Given the description of an element on the screen output the (x, y) to click on. 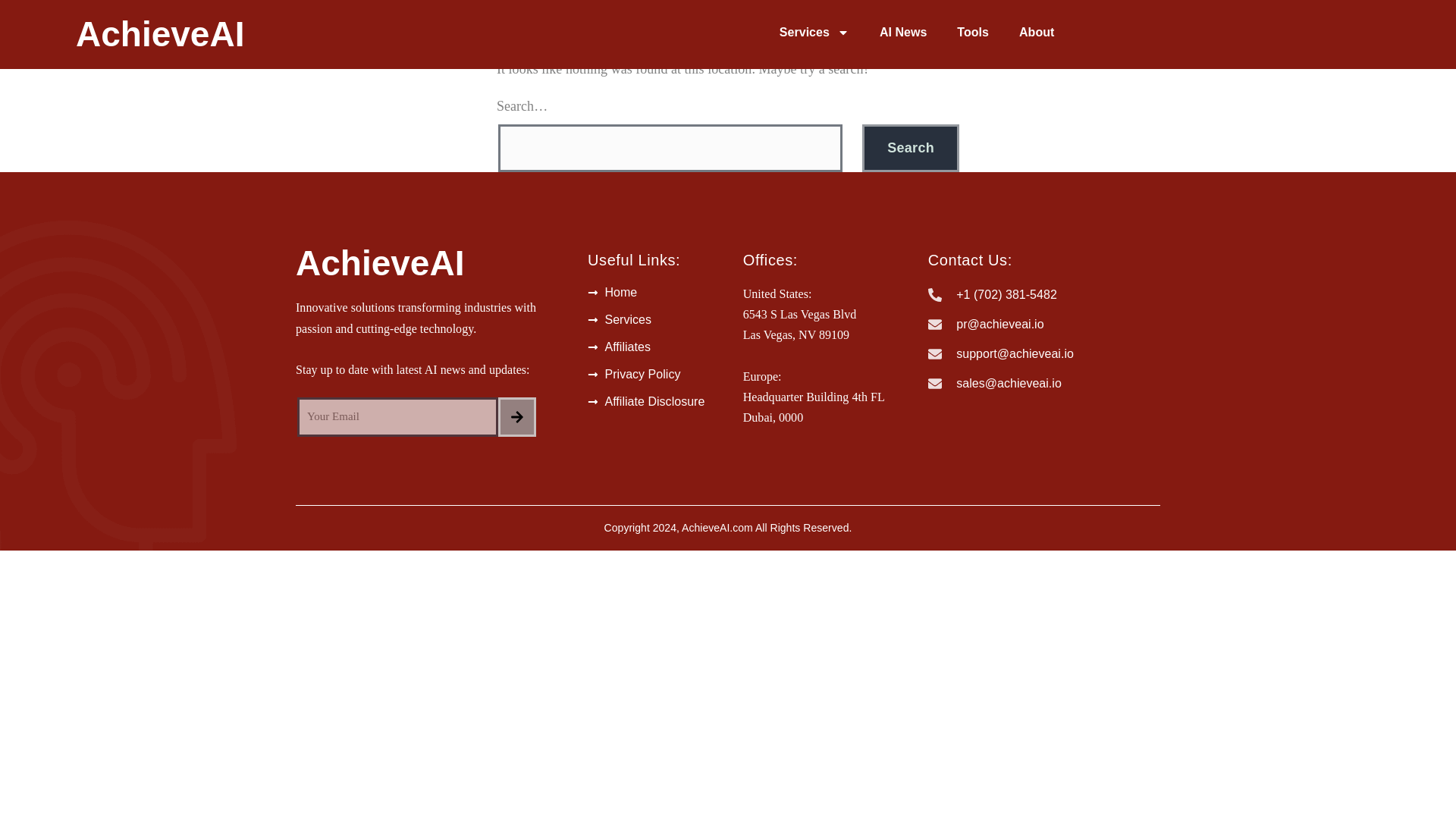
Affiliate Disclosure (658, 402)
Search (910, 147)
Privacy Policy (658, 374)
AchieveAI (379, 262)
Tools (973, 32)
AI News (903, 32)
About (1036, 32)
AchieveAI (159, 34)
Services (814, 32)
Search (910, 147)
